Given the description of an element on the screen output the (x, y) to click on. 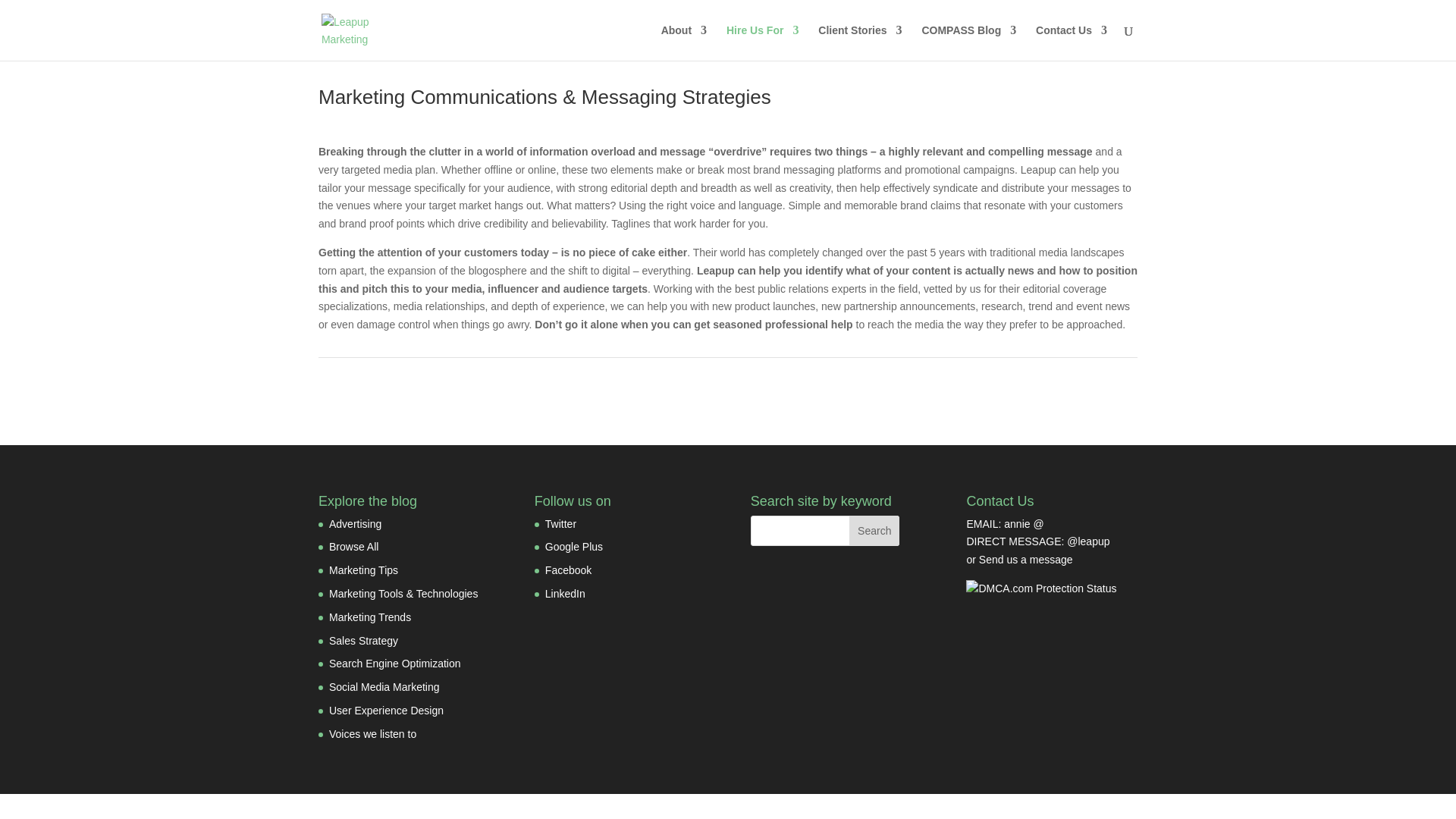
GooglePlus (573, 546)
DMCA.com Protection Status (1041, 588)
Hire Us For (761, 42)
Facebook (567, 570)
COMPASS Blog (968, 42)
LinkedIn (564, 593)
Client Stories (859, 42)
Search (873, 530)
Twitter (560, 523)
Contact Us (1070, 42)
About (683, 42)
